Given the description of an element on the screen output the (x, y) to click on. 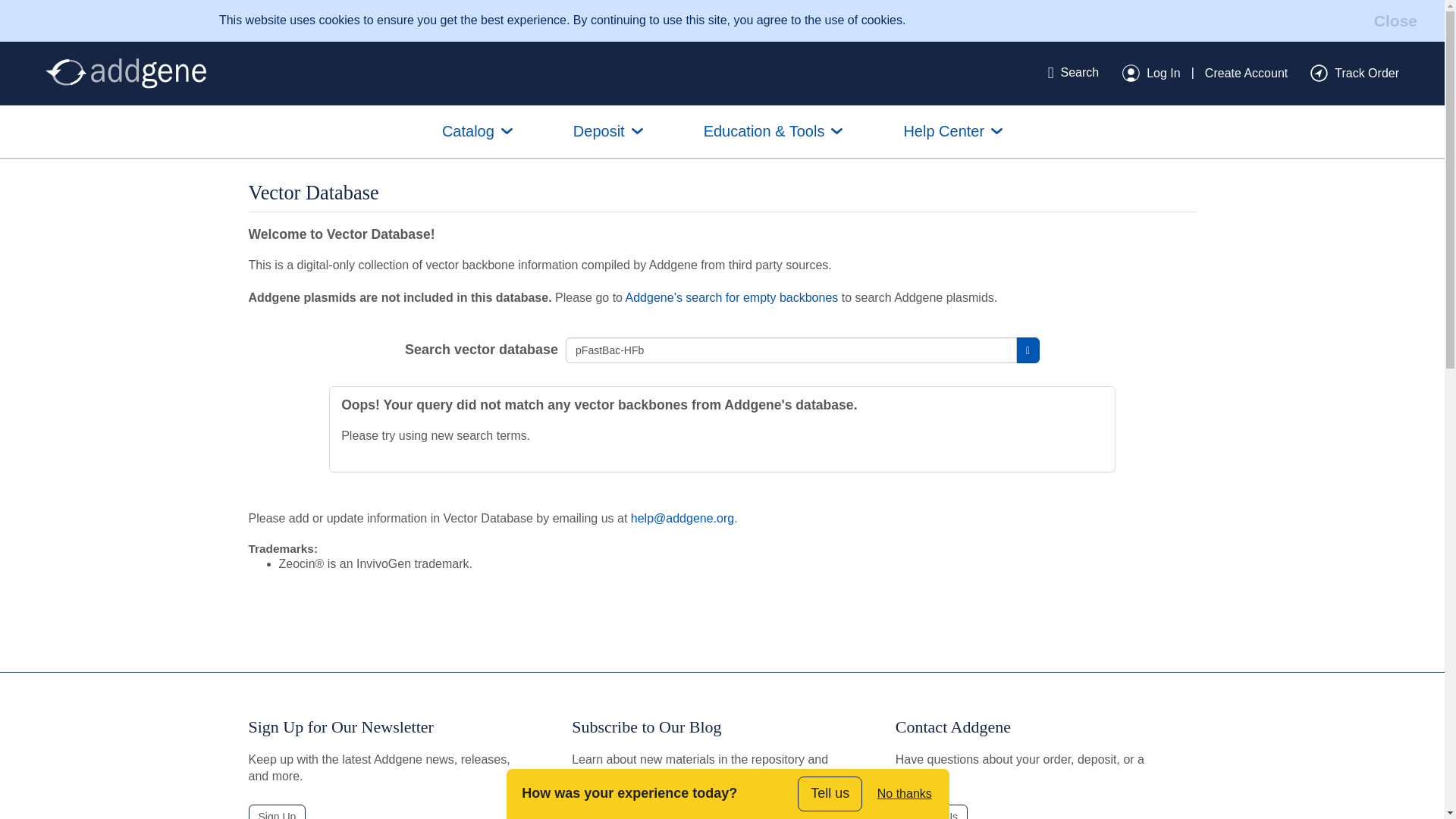
Help Center (952, 131)
Skip to main content (12, 7)
Log In (1150, 72)
pFastBac-HFb (791, 350)
pFastBac-HFb (791, 350)
Create Account (1246, 72)
Track Order (1354, 72)
Deposit (607, 131)
Catalog (477, 131)
Close (1395, 20)
